Given the description of an element on the screen output the (x, y) to click on. 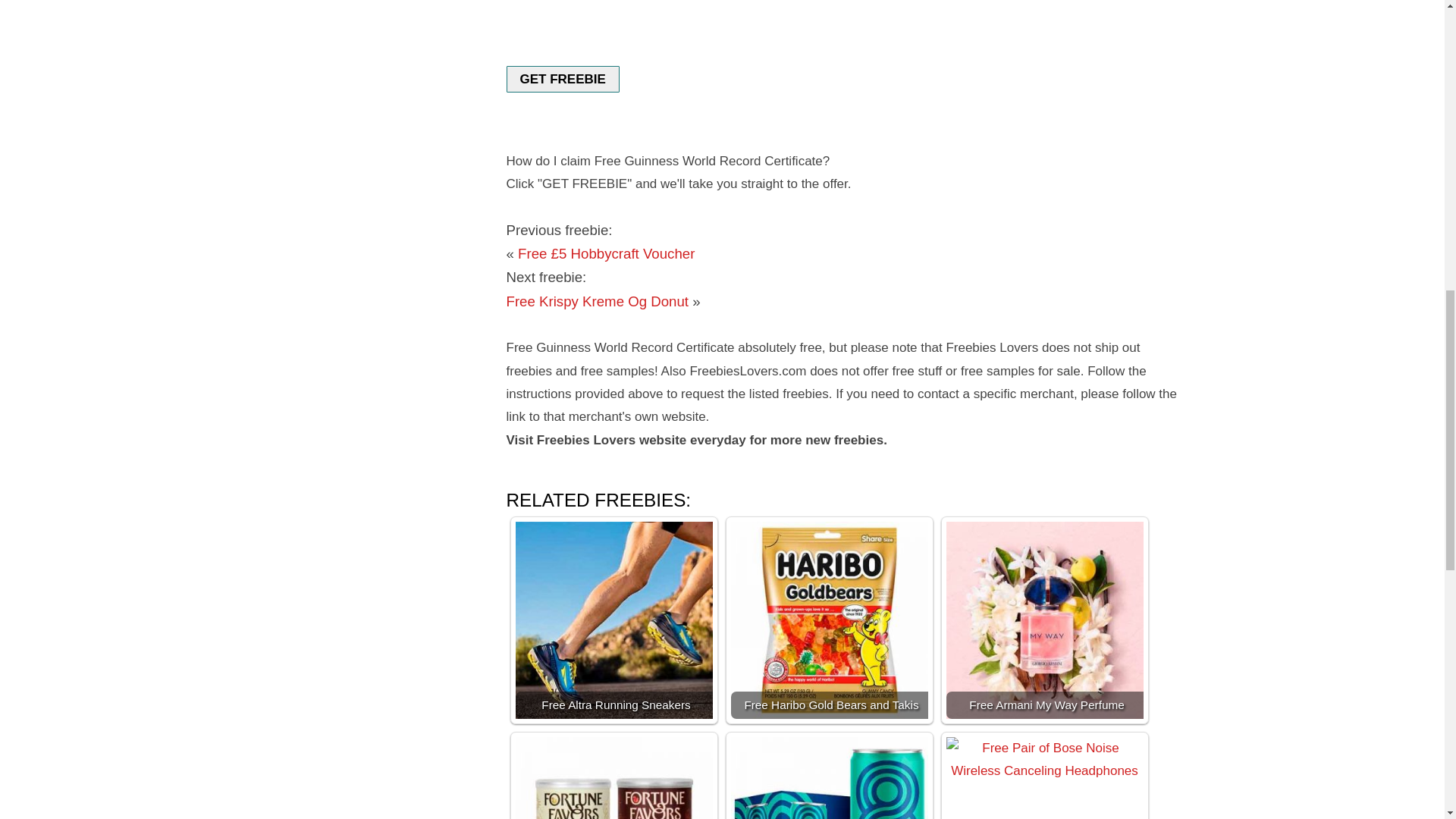
Free Haribo Gold Bears and Takis (829, 620)
Free 8th Wonder Superfood Tea Can (829, 778)
Free Pair of Bose Noise Wireless Canceling Headphones (1044, 778)
Free Altra Running Sneakers (614, 620)
Free Krispy Kreme Og Donut (597, 301)
Free Fortune Favors Candied Pecans (614, 778)
Free 8th Wonder Superfood Tea Can (829, 778)
Free Haribo Gold Bears and Takis (829, 620)
Free Altra Running Sneakers (614, 620)
Free Armani My Way Perfume (1044, 620)
